Given the description of an element on the screen output the (x, y) to click on. 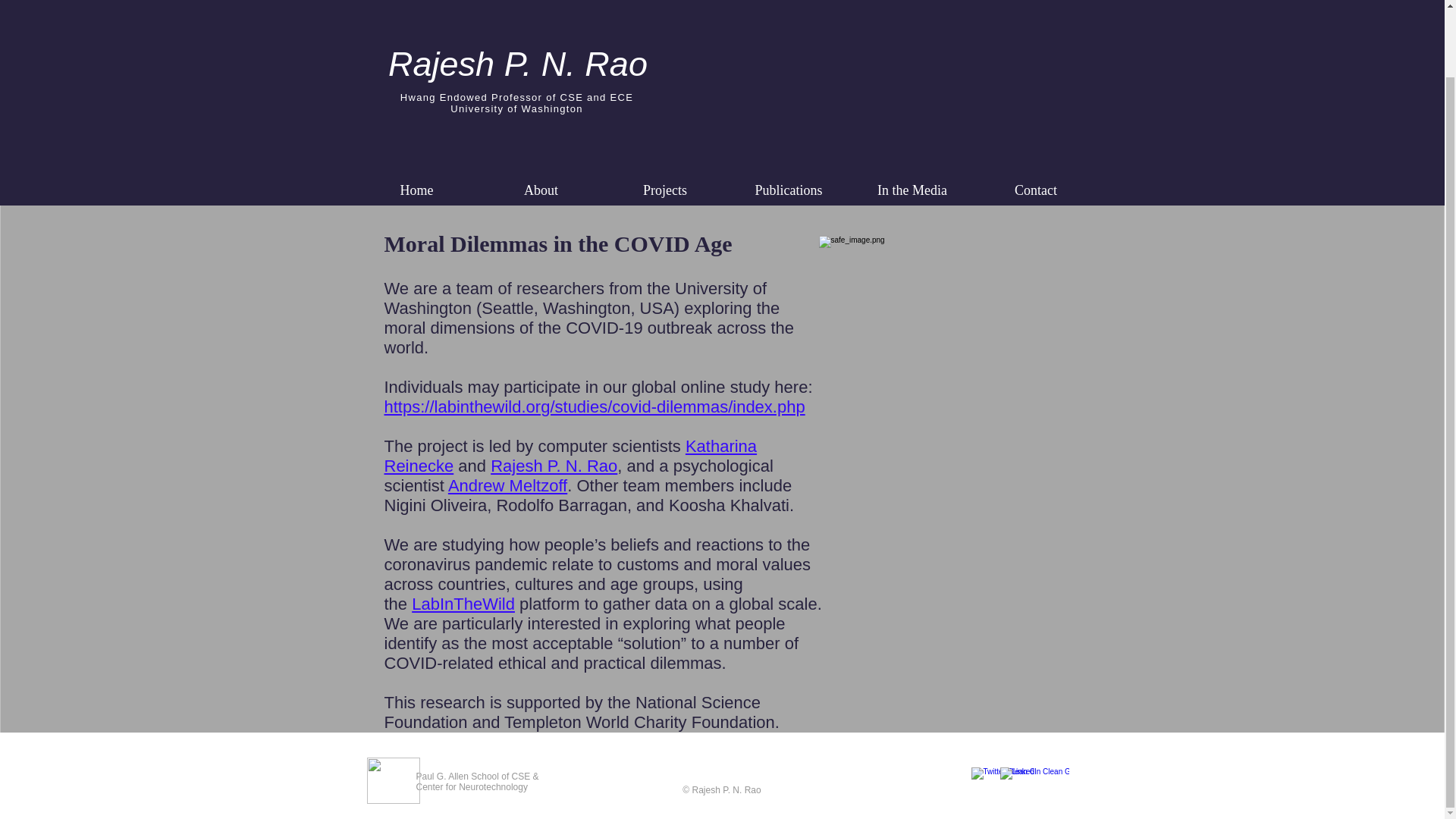
Rajesh P. N. Rao (517, 64)
Projects (665, 190)
Contact (1035, 190)
Publications (788, 190)
Home (417, 190)
Andrew Meltzoff (507, 485)
In the Media (912, 190)
Hwang Endowed Professor of CSE and ECE (516, 97)
Katharina Reinecke (570, 455)
About (541, 190)
LabInTheWild (463, 603)
Rajesh P. N. Rao (553, 465)
